Given the description of an element on the screen output the (x, y) to click on. 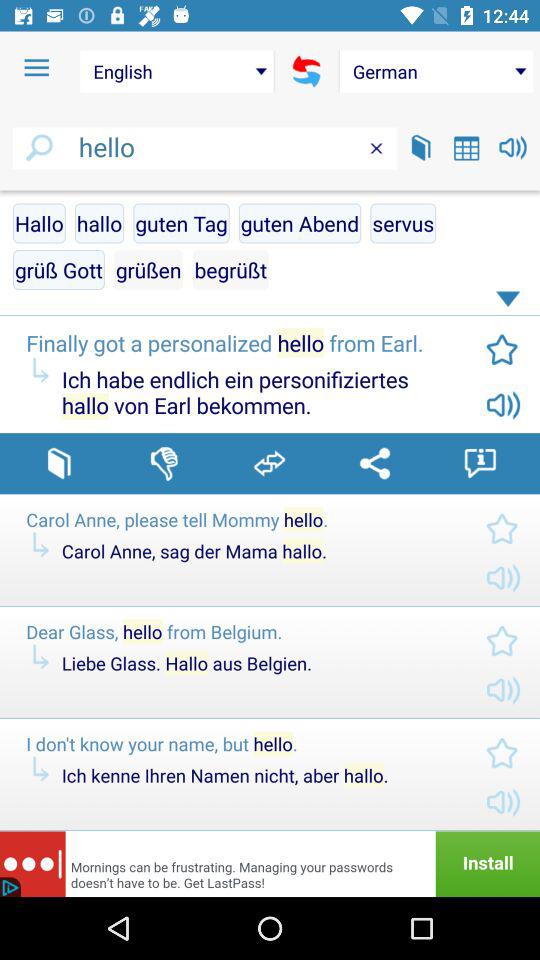
calendar (466, 148)
